Given the description of an element on the screen output the (x, y) to click on. 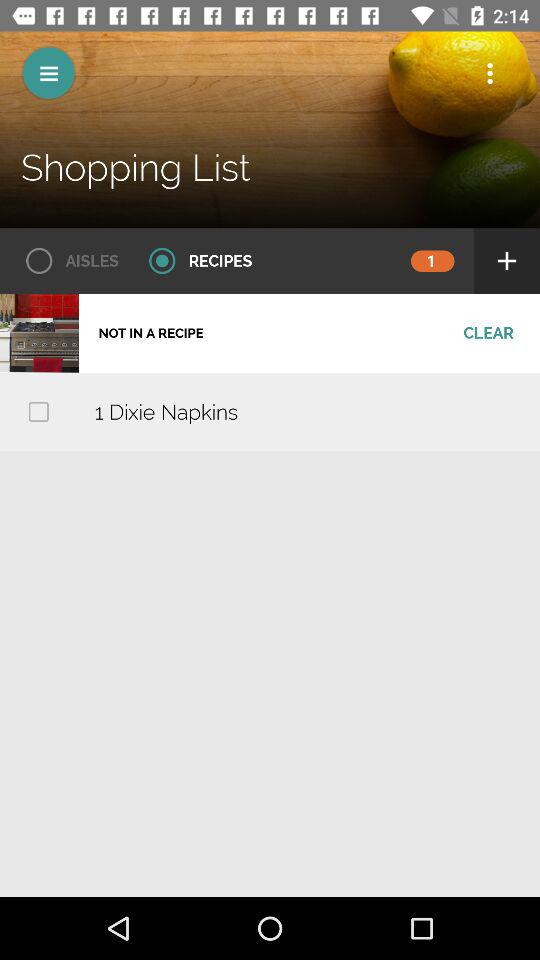
press item next to not in a item (488, 333)
